Given the description of an element on the screen output the (x, y) to click on. 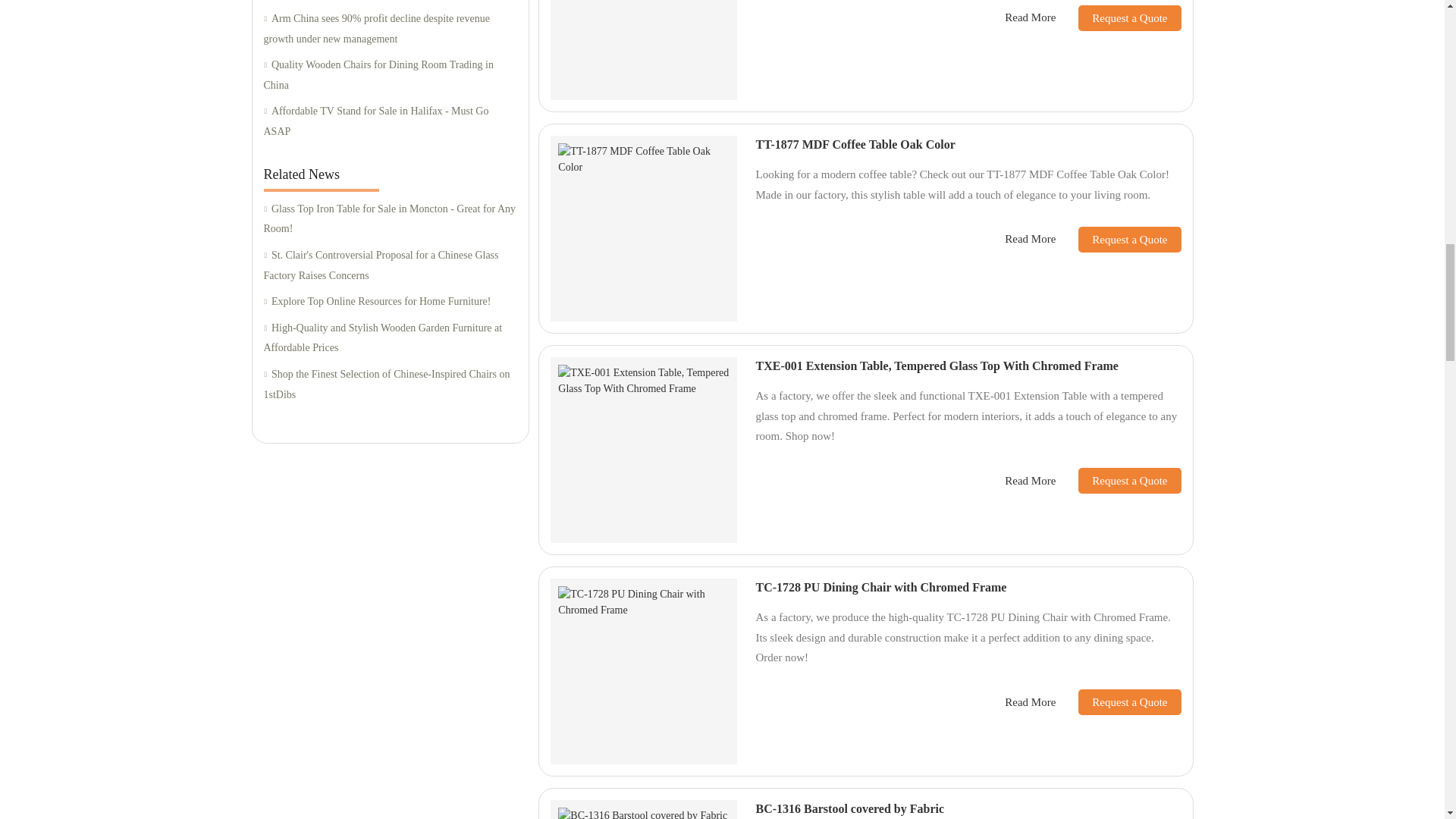
Affordable TV Stand for Sale in Halifax - Must Go ASAP (389, 121)
Quality Wooden Chairs for Dining Room Trading in China (389, 75)
Explore Top Online Resources for Home Furniture! (389, 301)
